Given the description of an element on the screen output the (x, y) to click on. 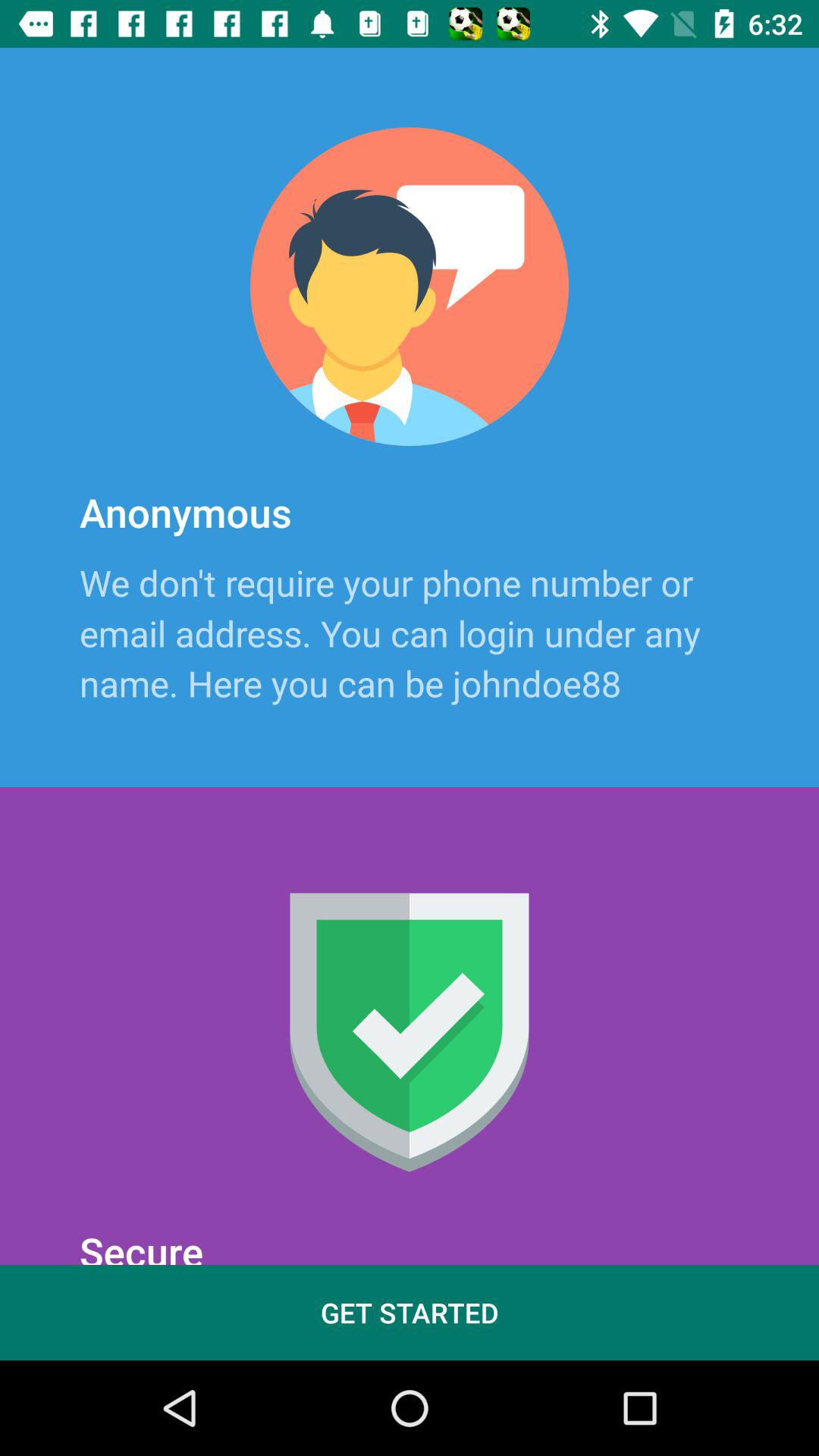
launch get started (409, 1312)
